Given the description of an element on the screen output the (x, y) to click on. 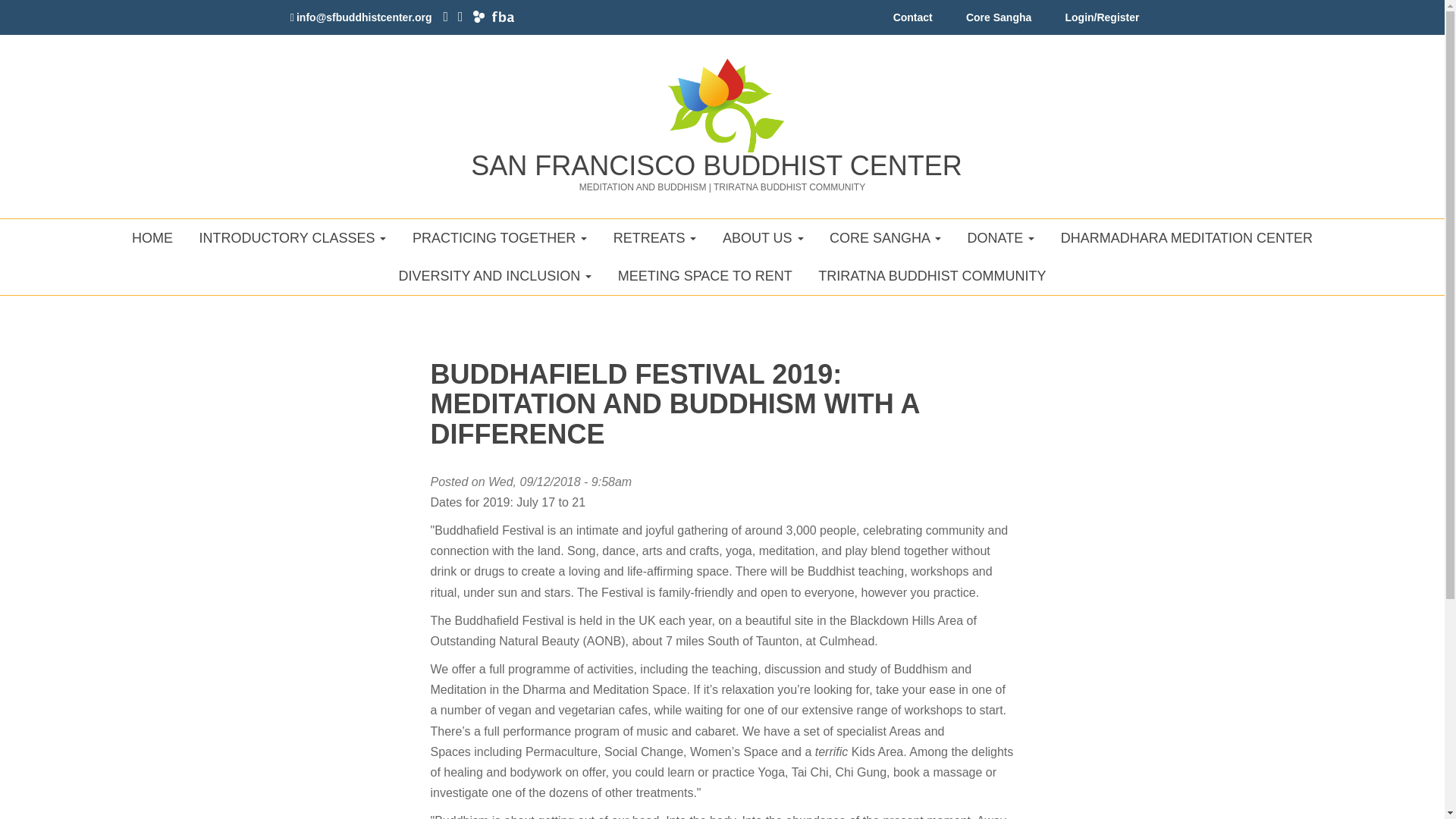
HOME (152, 238)
ABOUT US (763, 238)
San Francisco Buddhist Center at freebuddhistaudio.com (502, 17)
SAN FRANCISCO BUDDHIST CENTER (715, 164)
INTRODUCTORY CLASSES (292, 238)
CORE SANGHA (885, 238)
San Francisco Buddhist Center at thebuddhistcentre.com (478, 17)
Home (721, 97)
PRACTICING TOGETHER (499, 238)
Meeting space (705, 275)
Home (715, 164)
RETREATS (654, 238)
Contact (912, 22)
